Given the description of an element on the screen output the (x, y) to click on. 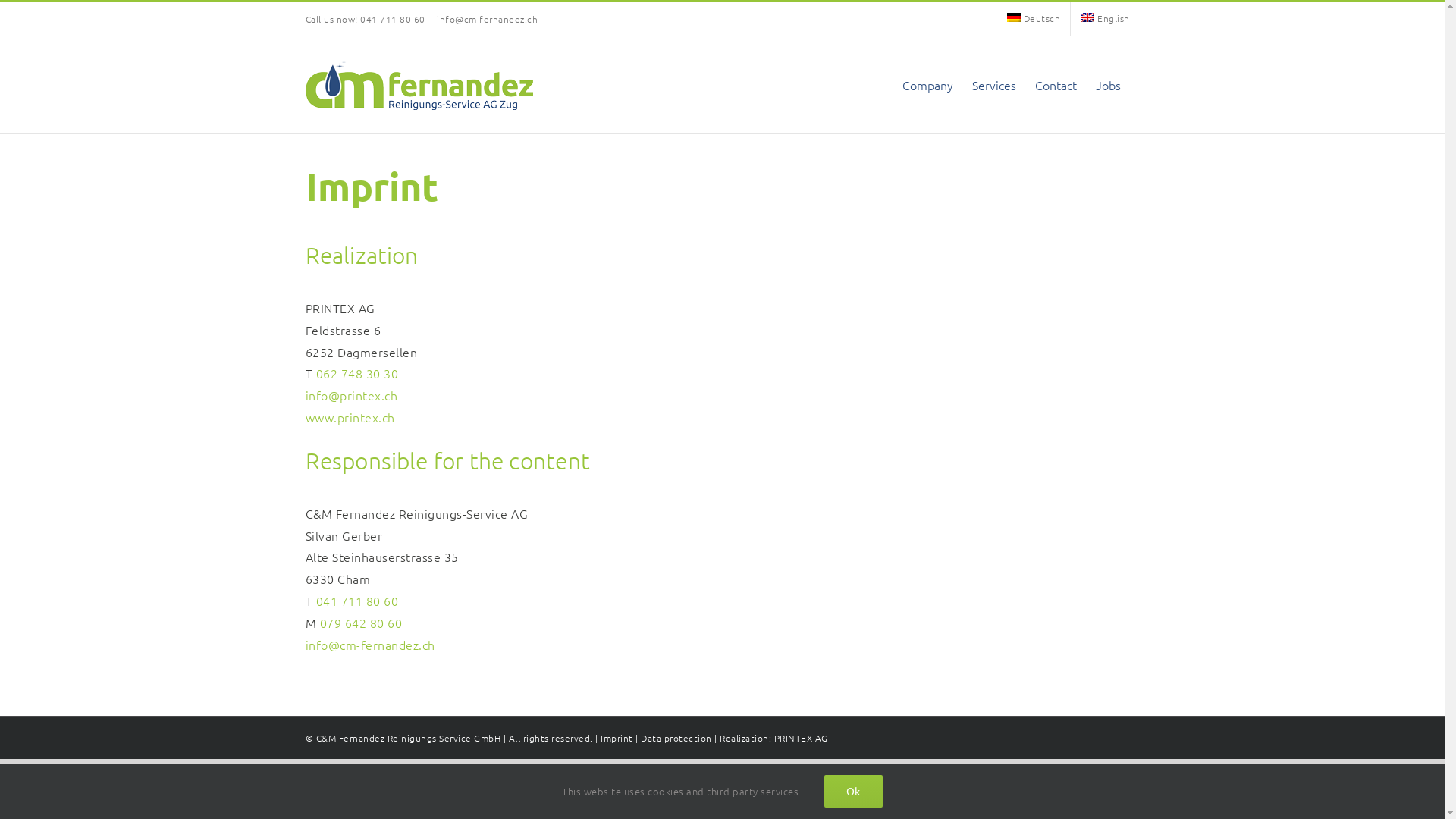
Ok Element type: text (853, 791)
Data protection Element type: text (676, 737)
PRINTEX AG Element type: text (800, 737)
Imprint Element type: text (616, 737)
Contact Element type: text (1055, 84)
062 748 30 30 Element type: text (356, 372)
info@cm-fernandez.ch Element type: text (486, 18)
Jobs Element type: text (1107, 84)
info@printex.ch Element type: text (350, 394)
www.printex.ch Element type: text (349, 416)
Services Element type: text (994, 84)
Deutsch Element type: text (1033, 18)
079 642 80 60 Element type: text (361, 622)
English Element type: text (1104, 18)
041 711 80 60 Element type: text (392, 18)
info@cm-fernandez.ch Element type: text (369, 644)
Company Element type: text (927, 84)
041 711 80 60 Element type: text (356, 600)
